Given the description of an element on the screen output the (x, y) to click on. 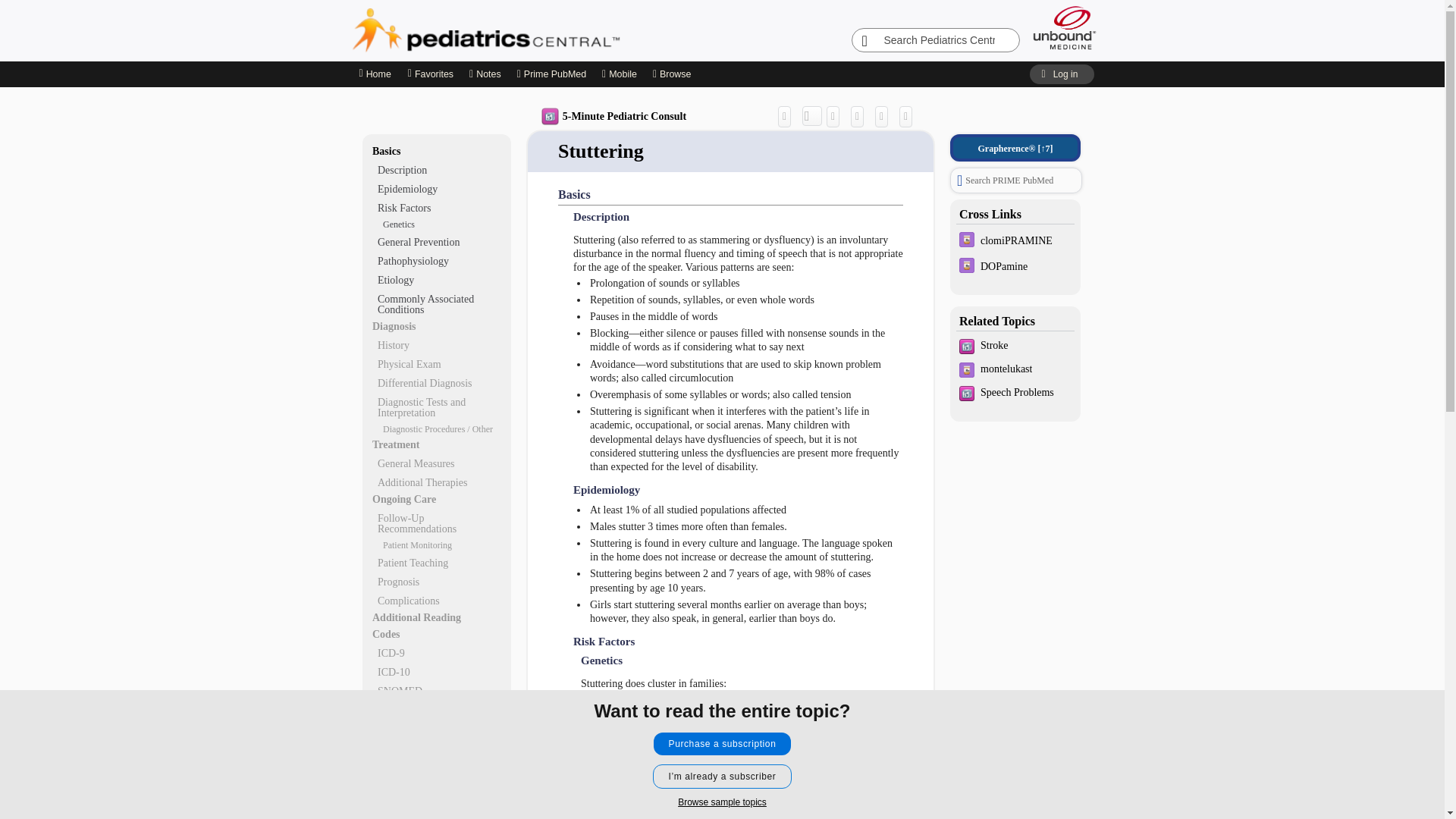
Notes (484, 73)
Log In (1061, 74)
Pediatrics Central (539, 30)
5-Minute Pediatric Consult (613, 116)
Home (375, 73)
Favorites (429, 73)
Prime PubMed (551, 73)
Mobile (619, 73)
Home (373, 73)
Create Citation (837, 116)
Favorites (429, 73)
Print PDF (860, 116)
Log in (1061, 74)
Tag Record (909, 116)
Prime PubMed (551, 73)
